Given the description of an element on the screen output the (x, y) to click on. 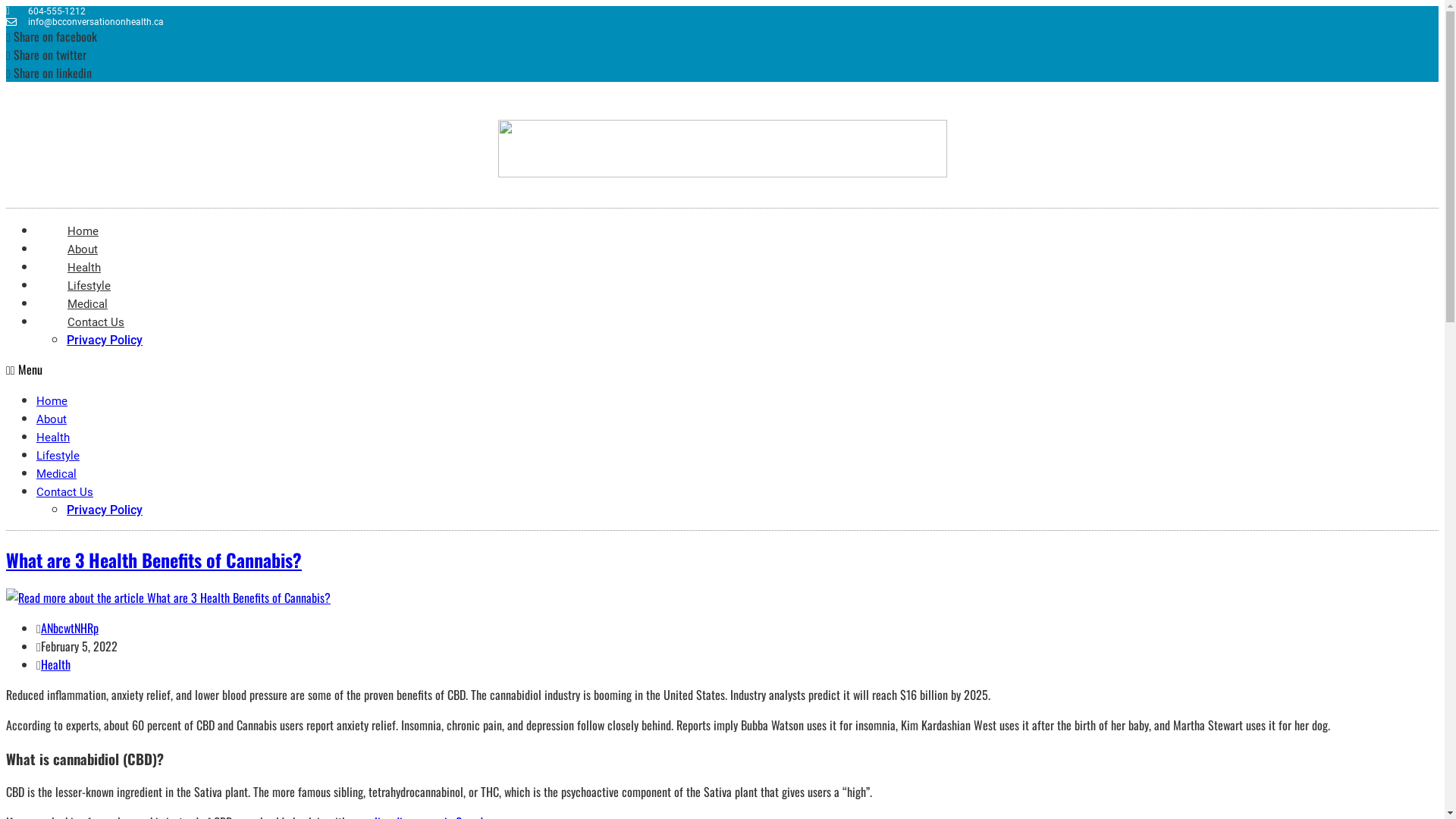
Privacy Policy Element type: text (104, 339)
About Element type: text (51, 419)
ANbcwtNHRp Element type: text (69, 627)
Health Element type: text (55, 664)
About Element type: text (82, 249)
Medical Element type: text (56, 473)
Contact Us Element type: text (64, 491)
Home Element type: text (51, 400)
Contact Us Element type: text (95, 322)
Home Element type: text (82, 231)
Health Element type: text (52, 437)
Lifestyle Element type: text (88, 285)
Lifestyle Element type: text (57, 455)
Privacy Policy Element type: text (104, 509)
Medical Element type: text (87, 304)
Skip to content Element type: text (5, 5)
Health Element type: text (83, 267)
What are 3 Health Benefits of Cannabis? Element type: text (153, 559)
